Given the description of an element on the screen output the (x, y) to click on. 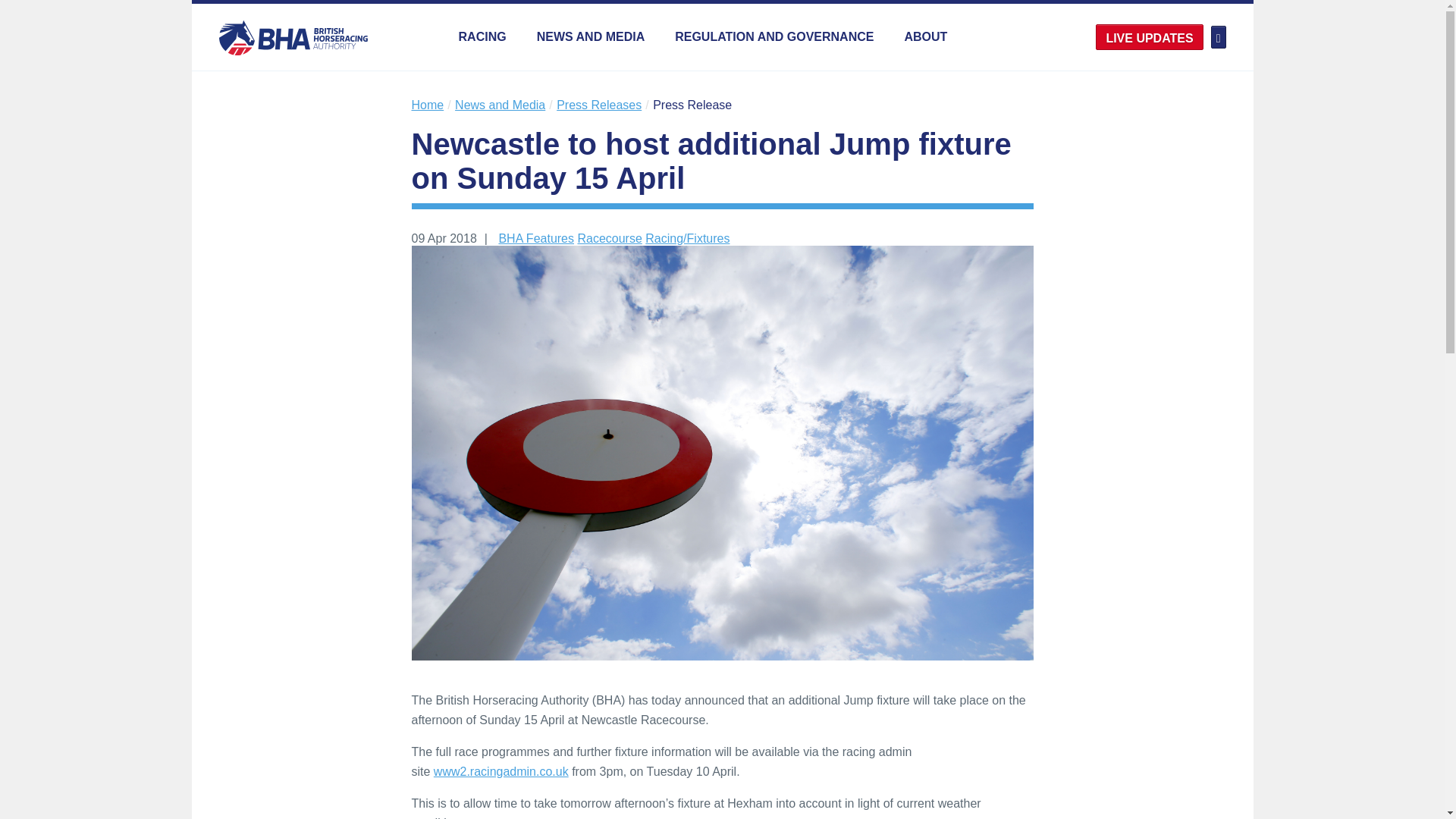
REGULATION AND GOVERNANCE (773, 36)
NEWS AND MEDIA (591, 36)
RACING (482, 36)
